Given the description of an element on the screen output the (x, y) to click on. 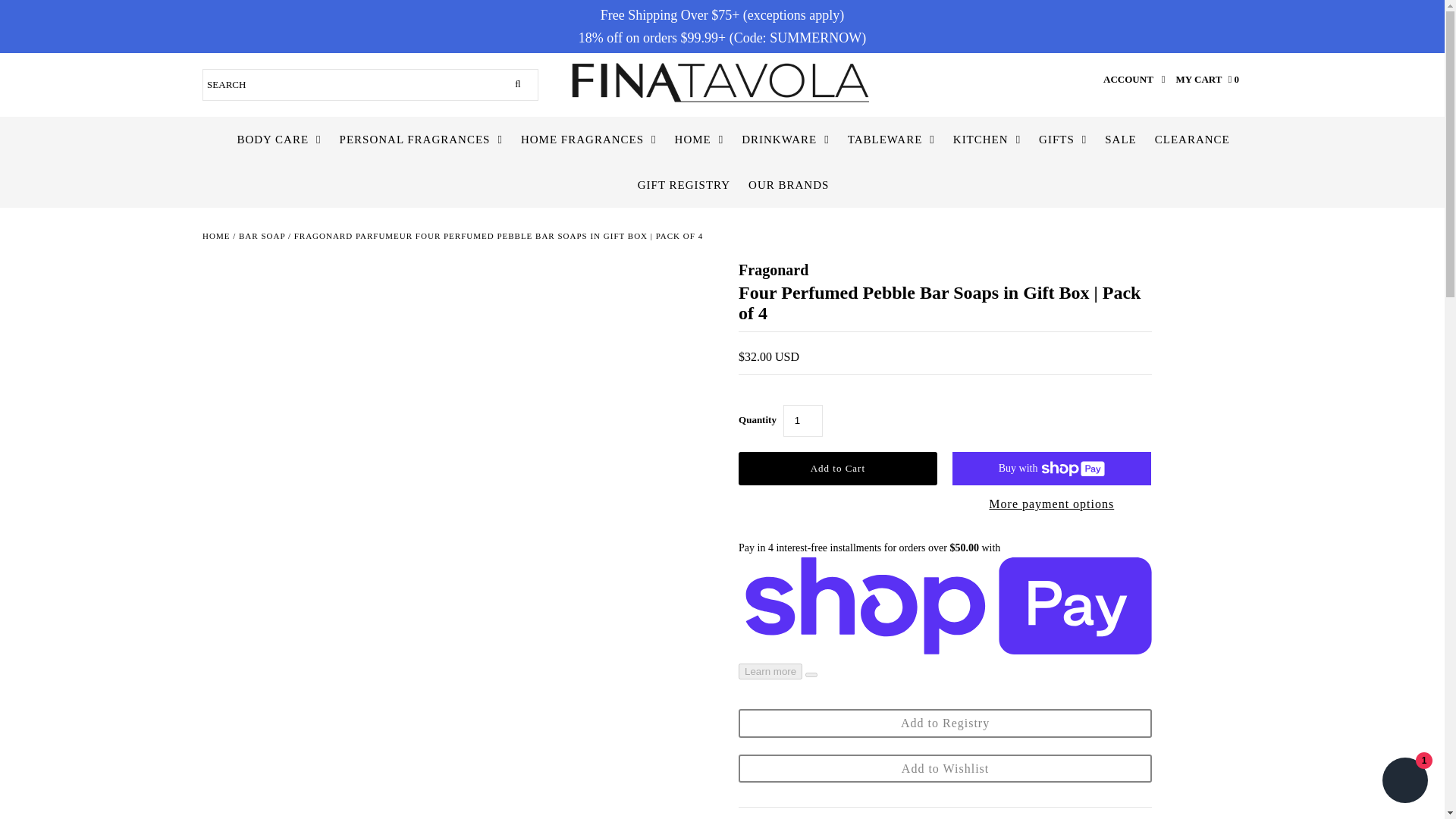
Add to Cart (837, 468)
Bar Soap (261, 235)
1 (802, 420)
Home (216, 235)
